Given the description of an element on the screen output the (x, y) to click on. 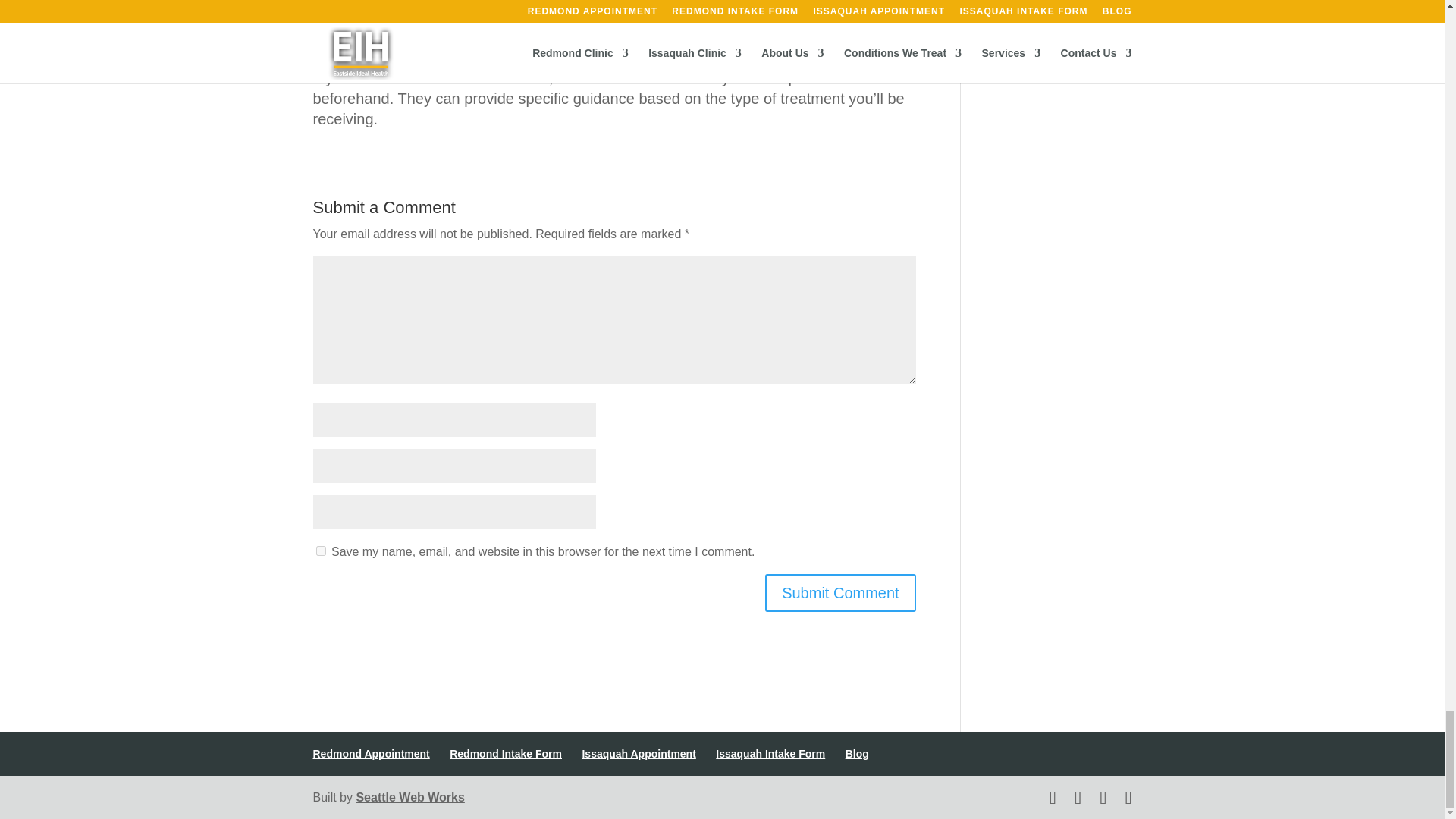
yes (319, 551)
Submit Comment (840, 592)
